Given the description of an element on the screen output the (x, y) to click on. 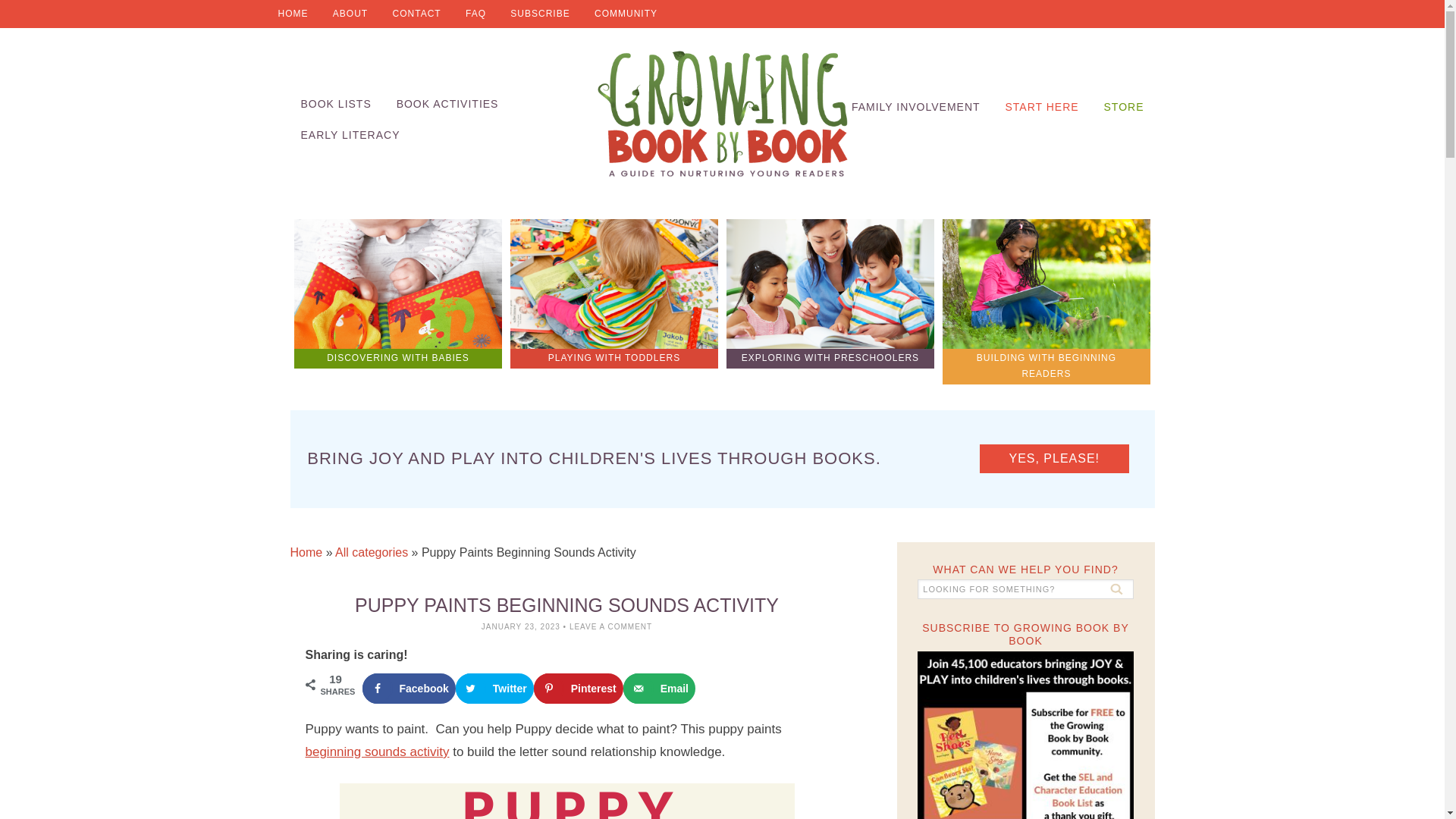
CONTACT (416, 13)
START HERE (1041, 106)
BOOK LISTS (335, 103)
GROWING BOOK BY BOOK (721, 113)
BOOK ACTIVITIES (447, 103)
Share on Facebook (408, 688)
ABOUT (349, 13)
Send over email (659, 688)
COMMUNITY (625, 13)
FAQ (475, 13)
FAMILY INVOLVEMENT (916, 106)
EARLY LITERACY (349, 134)
Save to Pinterest (578, 688)
Share on Twitter (494, 688)
SUBSCRIBE (539, 13)
